Given the description of an element on the screen output the (x, y) to click on. 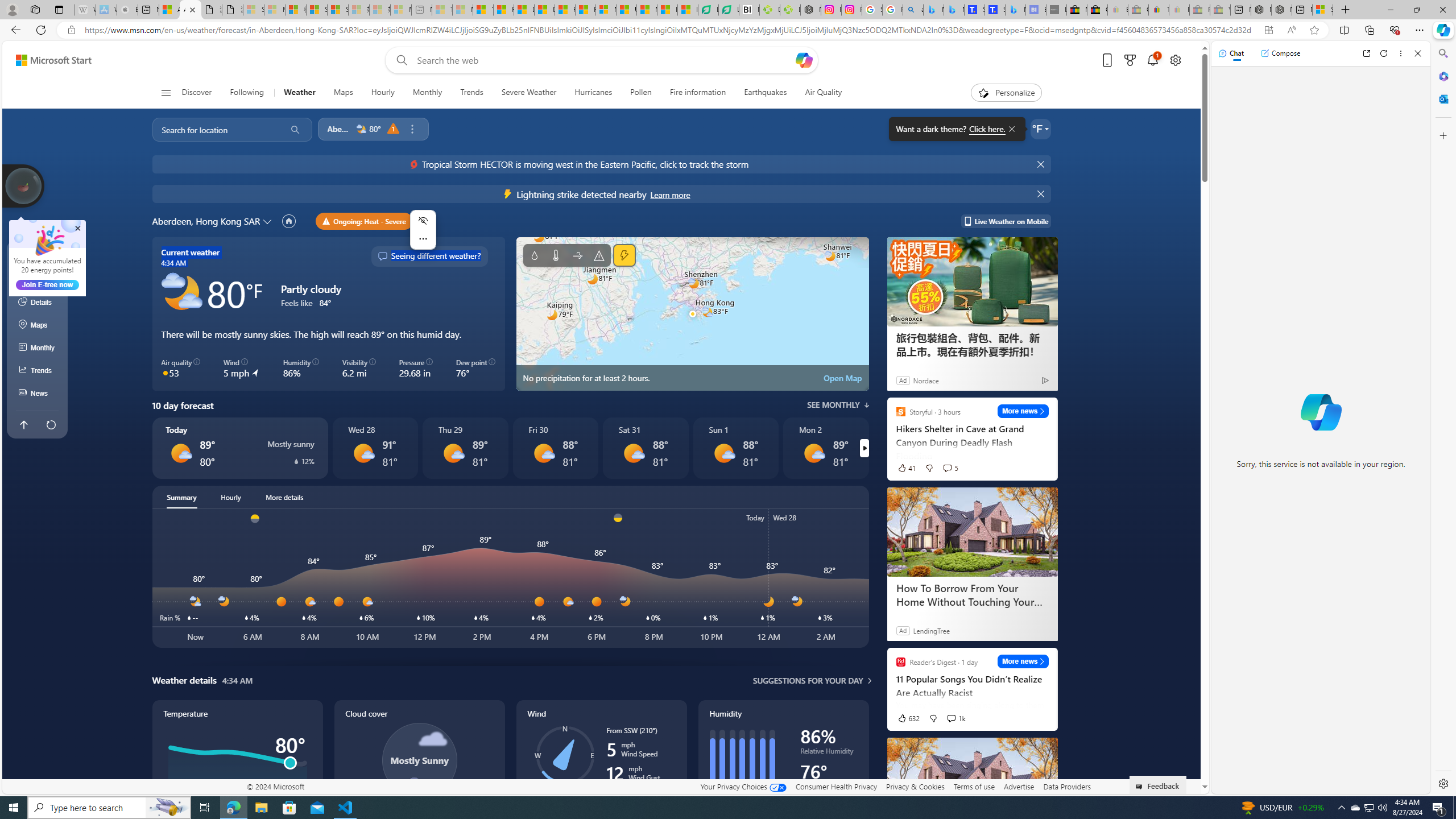
static map image of vector map (692, 313)
Aberdeen, Hong Kong SAR (205, 220)
Press Room - eBay Inc. - Sleeping (1199, 9)
Ongoing: Heat - Severe (364, 221)
Hide menu (422, 220)
Precipitation (534, 254)
